Given the description of an element on the screen output the (x, y) to click on. 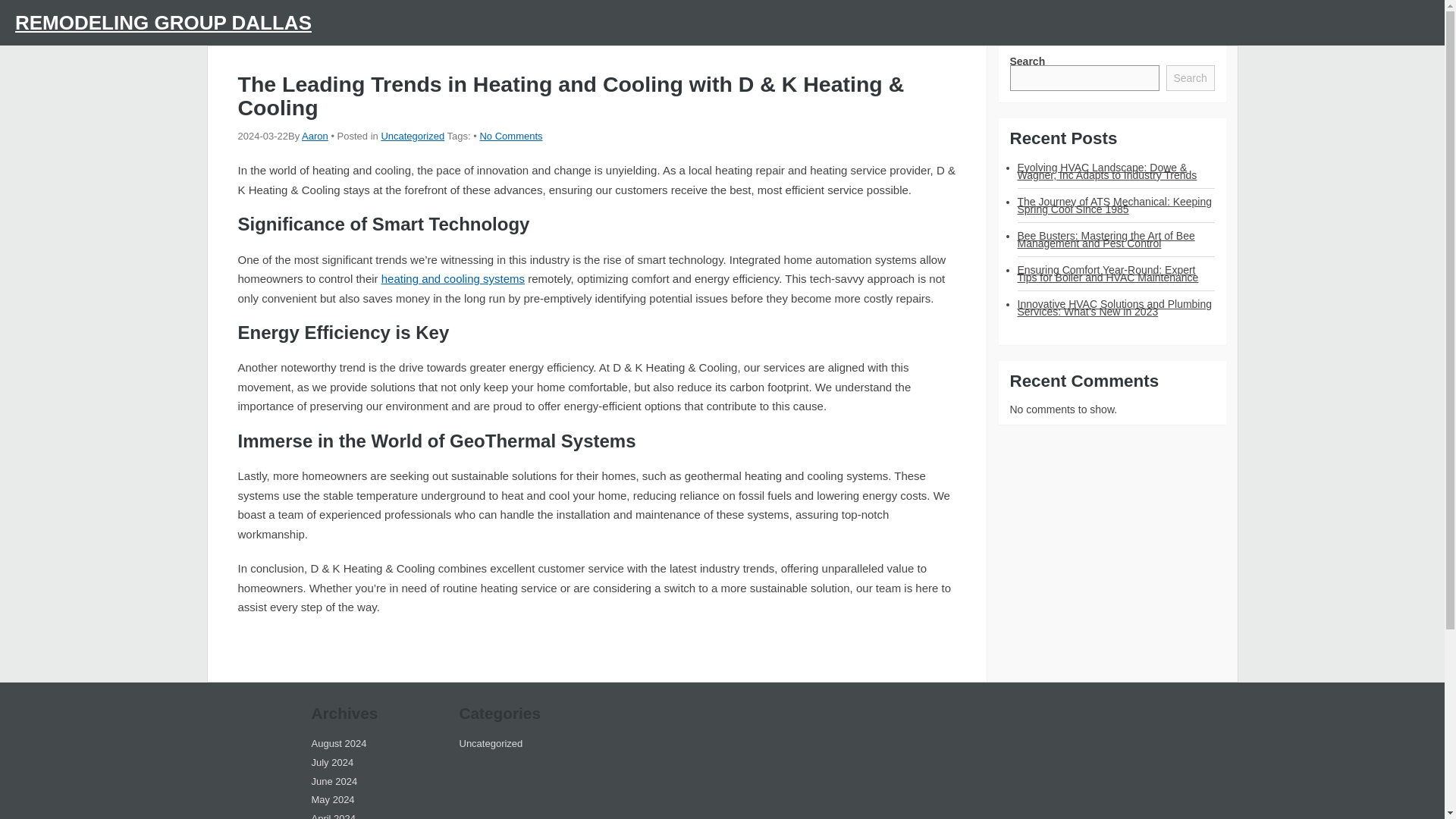
Aaron (315, 135)
heating and cooling systems (452, 278)
REMODELING GROUP DALLAS (162, 22)
July 2024 (332, 762)
Uncategorized (491, 743)
No Comments (510, 135)
June 2024 (333, 781)
Posts by Aaron (315, 135)
